Given the description of an element on the screen output the (x, y) to click on. 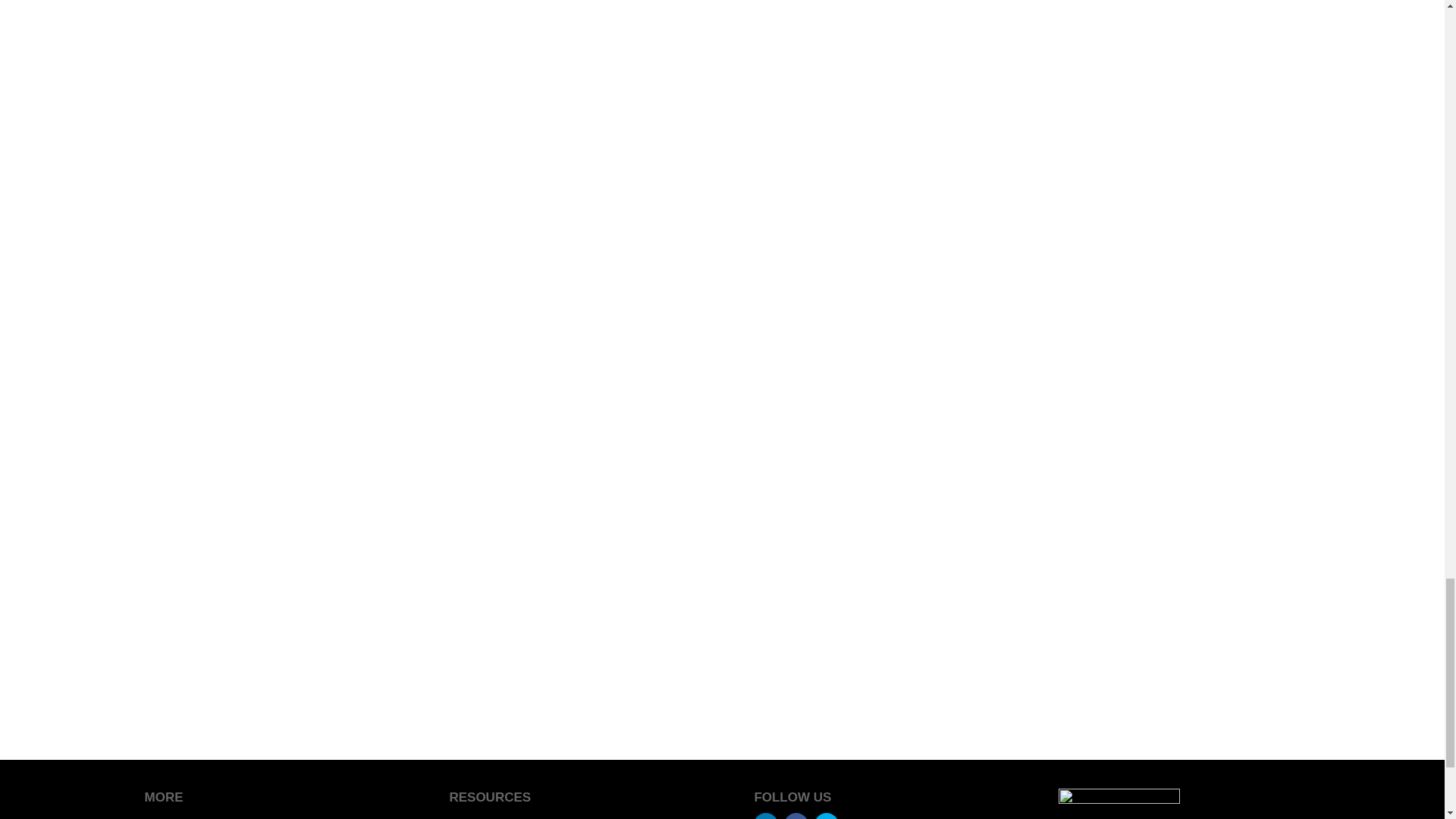
Follow on Facebook (796, 816)
Follow on Twitter (825, 816)
Follow on LinkedIn (765, 816)
Small logo without background - white text (1118, 803)
